Given the description of an element on the screen output the (x, y) to click on. 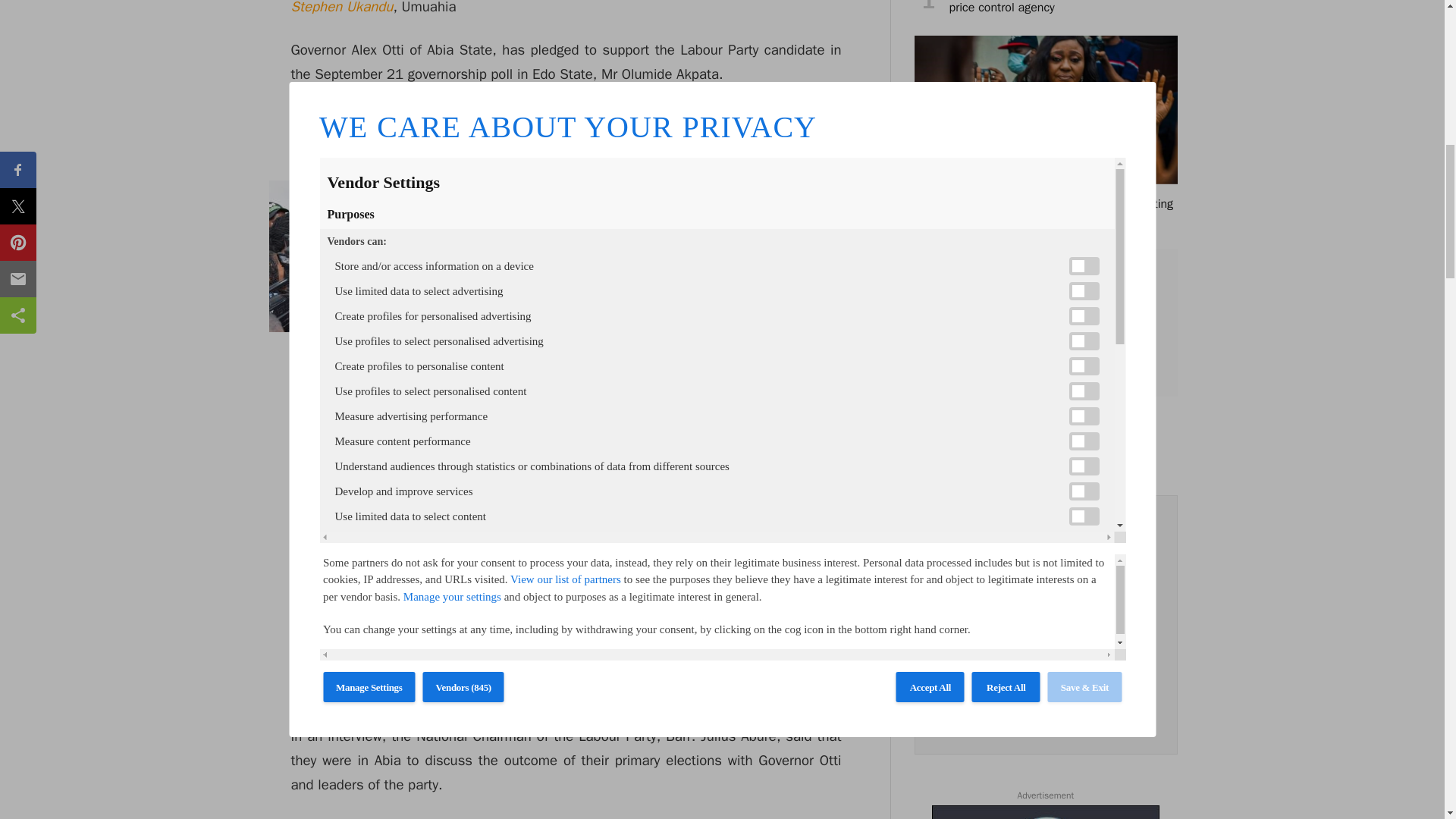
on (947, 705)
Subscribe (1045, 667)
